Given the description of an element on the screen output the (x, y) to click on. 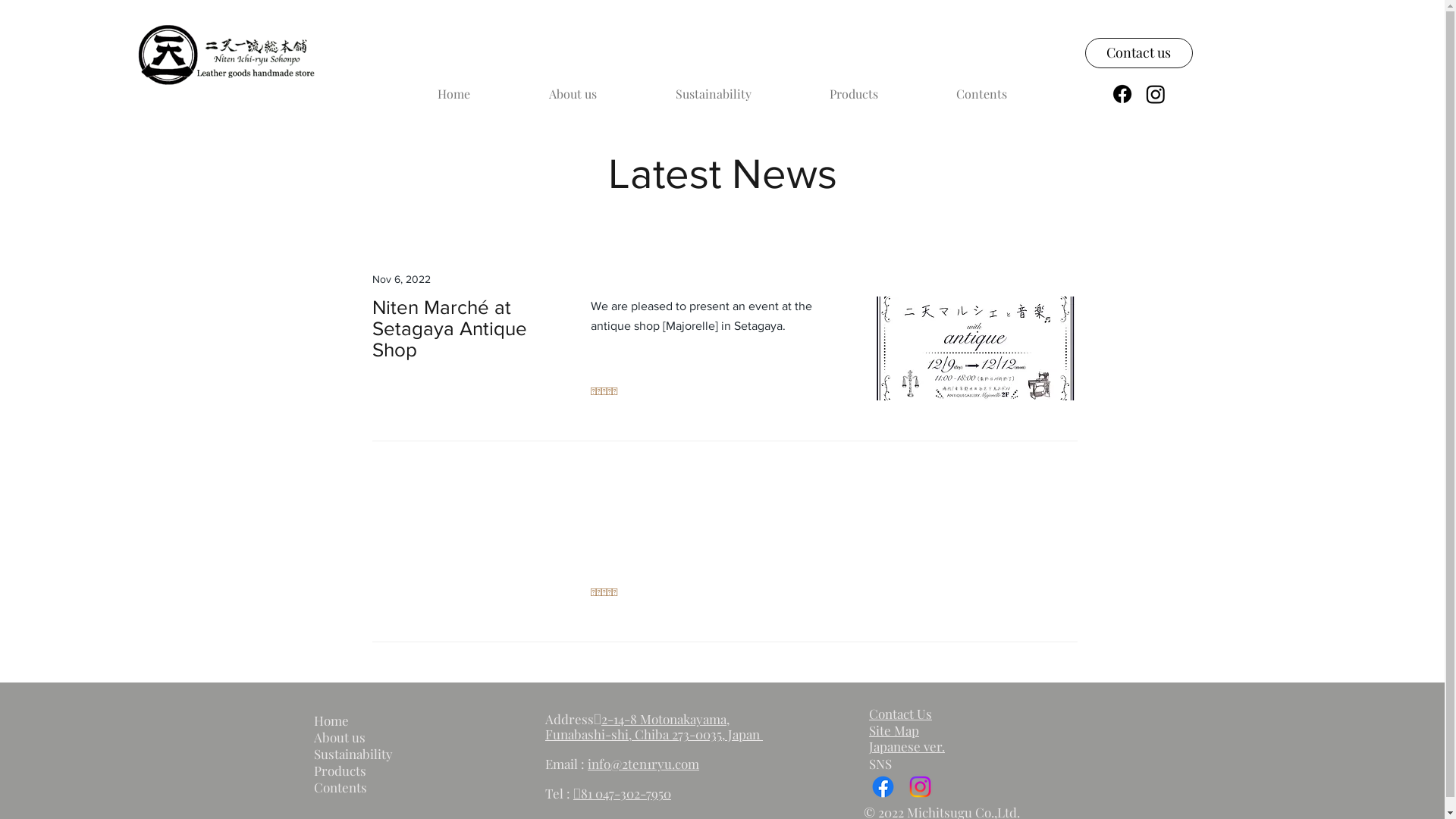
About us Element type: text (376, 736)
About us Element type: text (572, 93)
Products Element type: text (376, 770)
Contents Element type: text (981, 93)
Contact Us Element type: text (900, 713)
Home Element type: text (452, 93)
Home Element type: text (376, 720)
Sustainability Element type: text (376, 753)
Japanese ver. Element type: text (906, 745)
Contact us Element type: text (1138, 52)
Products Element type: text (853, 93)
Sustainability Element type: text (712, 93)
Site Map Element type: text (894, 729)
info@2ten1ryu.com Element type: text (643, 763)
Contents Element type: text (376, 786)
